Given the description of an element on the screen output the (x, y) to click on. 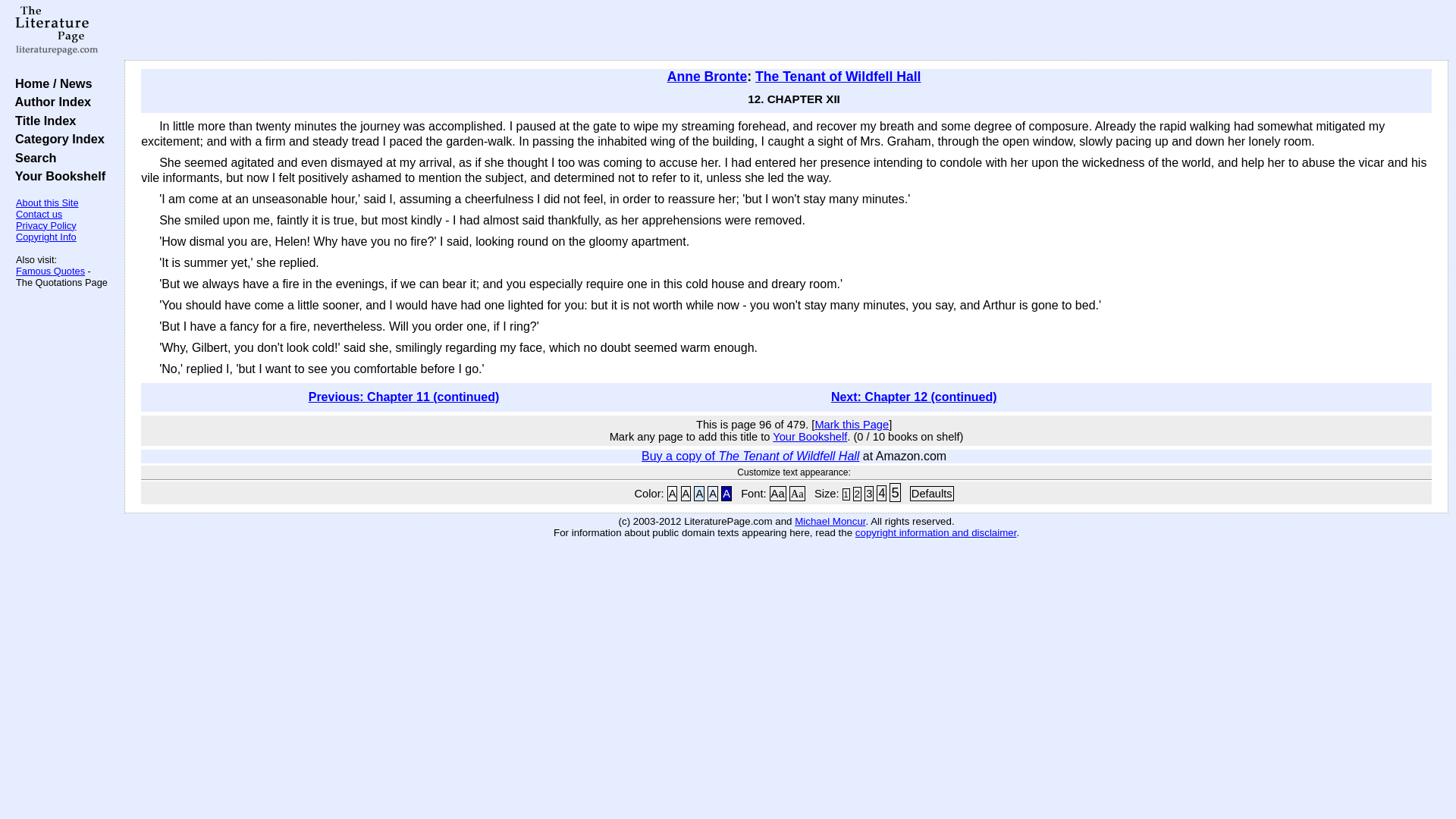
Serif (797, 493)
Mark this Page (850, 424)
copyright information and disclaimer (936, 532)
Michael Moncur (829, 521)
  Category Index (56, 138)
Defaults (931, 493)
Contact us (39, 214)
  Author Index (49, 101)
  Your Bookshelf (56, 175)
The Tenant of Wildfell Hall (837, 76)
About this Site (47, 202)
Buy a copy of The Tenant of Wildfell Hall (750, 455)
Aa (797, 493)
Copyright Info (46, 236)
Your Bookshelf (810, 436)
